Given the description of an element on the screen output the (x, y) to click on. 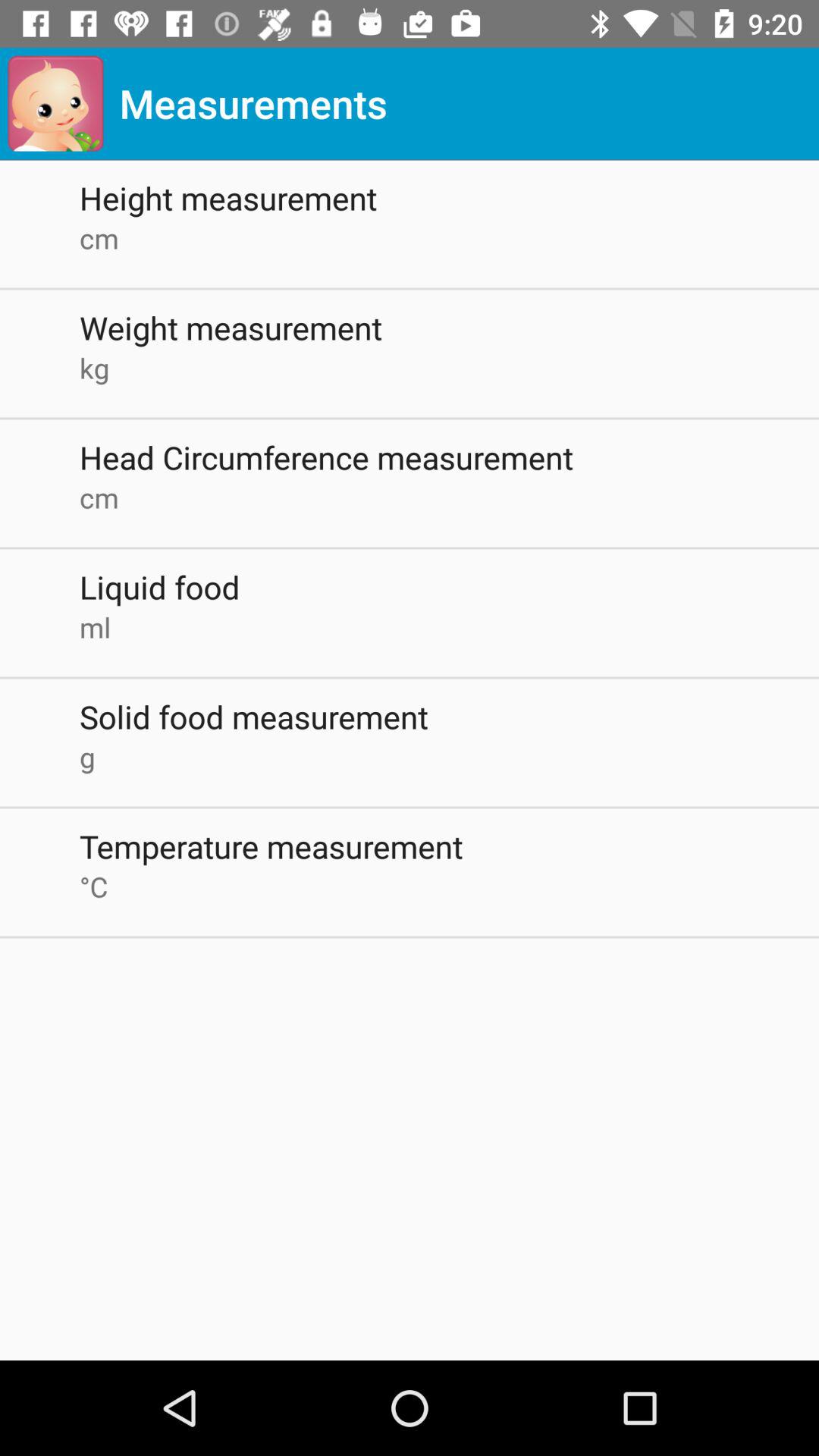
swipe to the g item (449, 756)
